Given the description of an element on the screen output the (x, y) to click on. 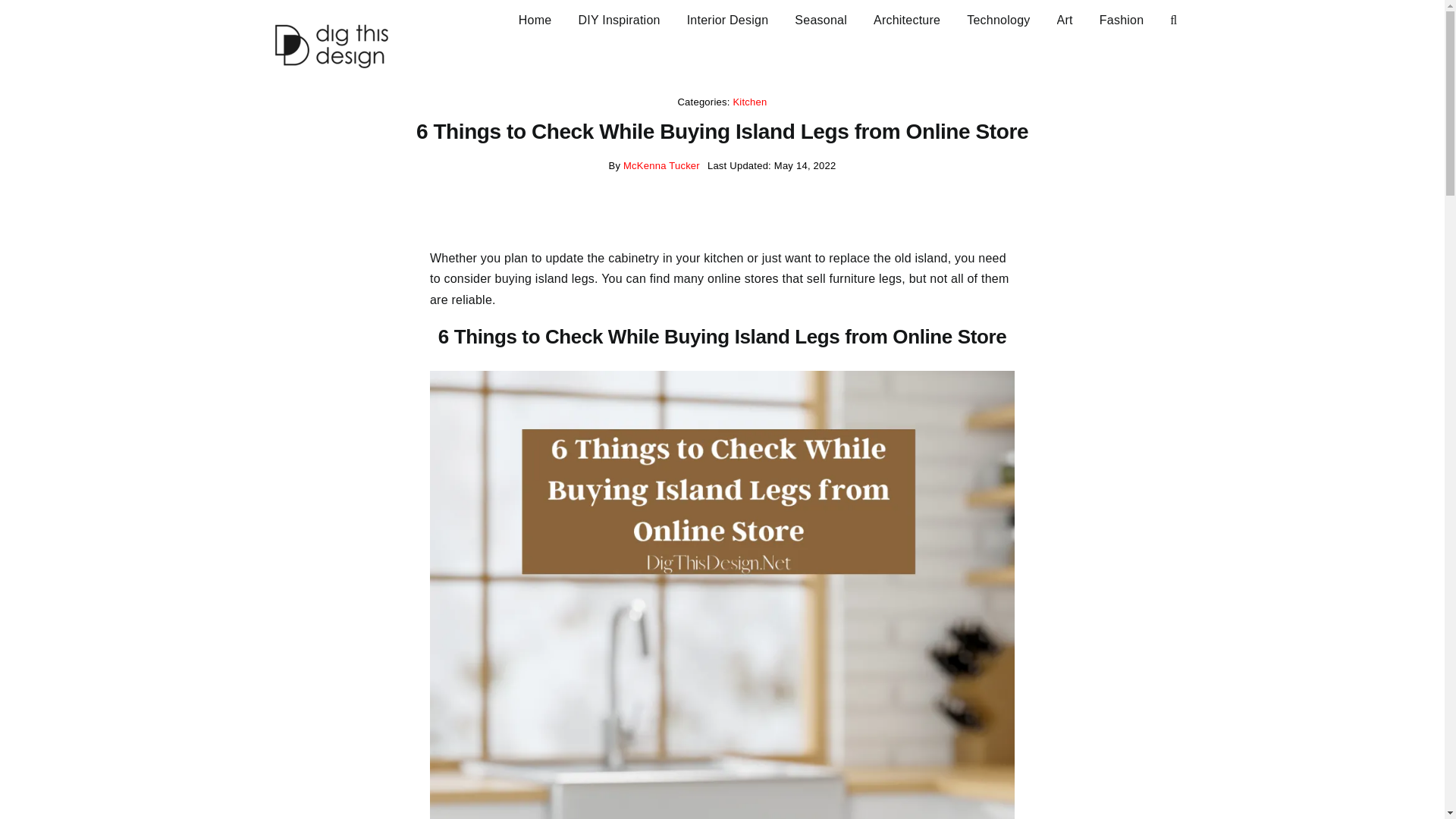
DIY Inspiration (618, 18)
diy-inspiration (618, 18)
Architecture (906, 18)
Seasonal (820, 18)
interior-design (727, 18)
Interior Design (727, 18)
